Given the description of an element on the screen output the (x, y) to click on. 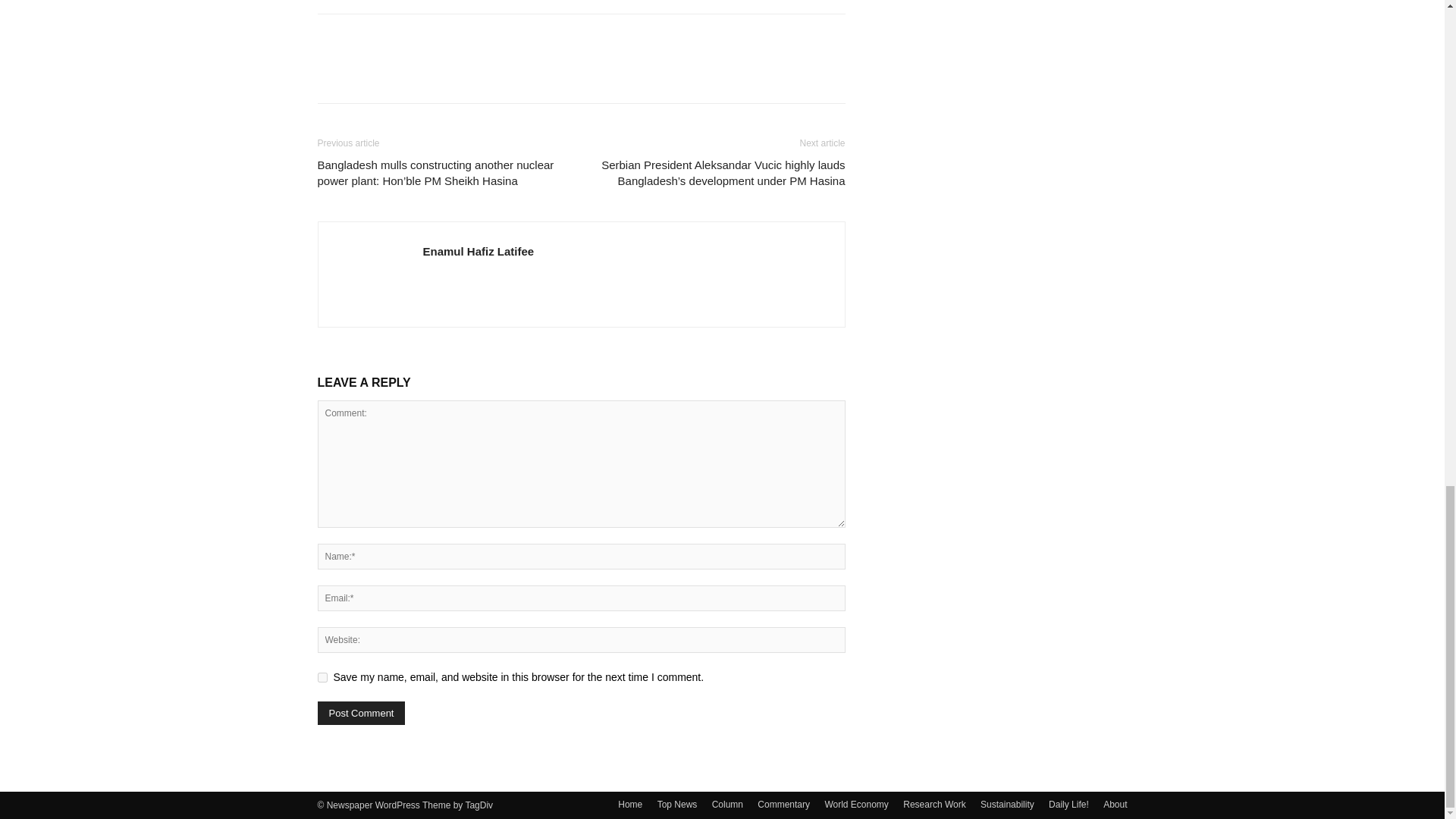
bottomFacebookLike (430, 37)
yes (321, 677)
Post Comment (360, 712)
